Given the description of an element on the screen output the (x, y) to click on. 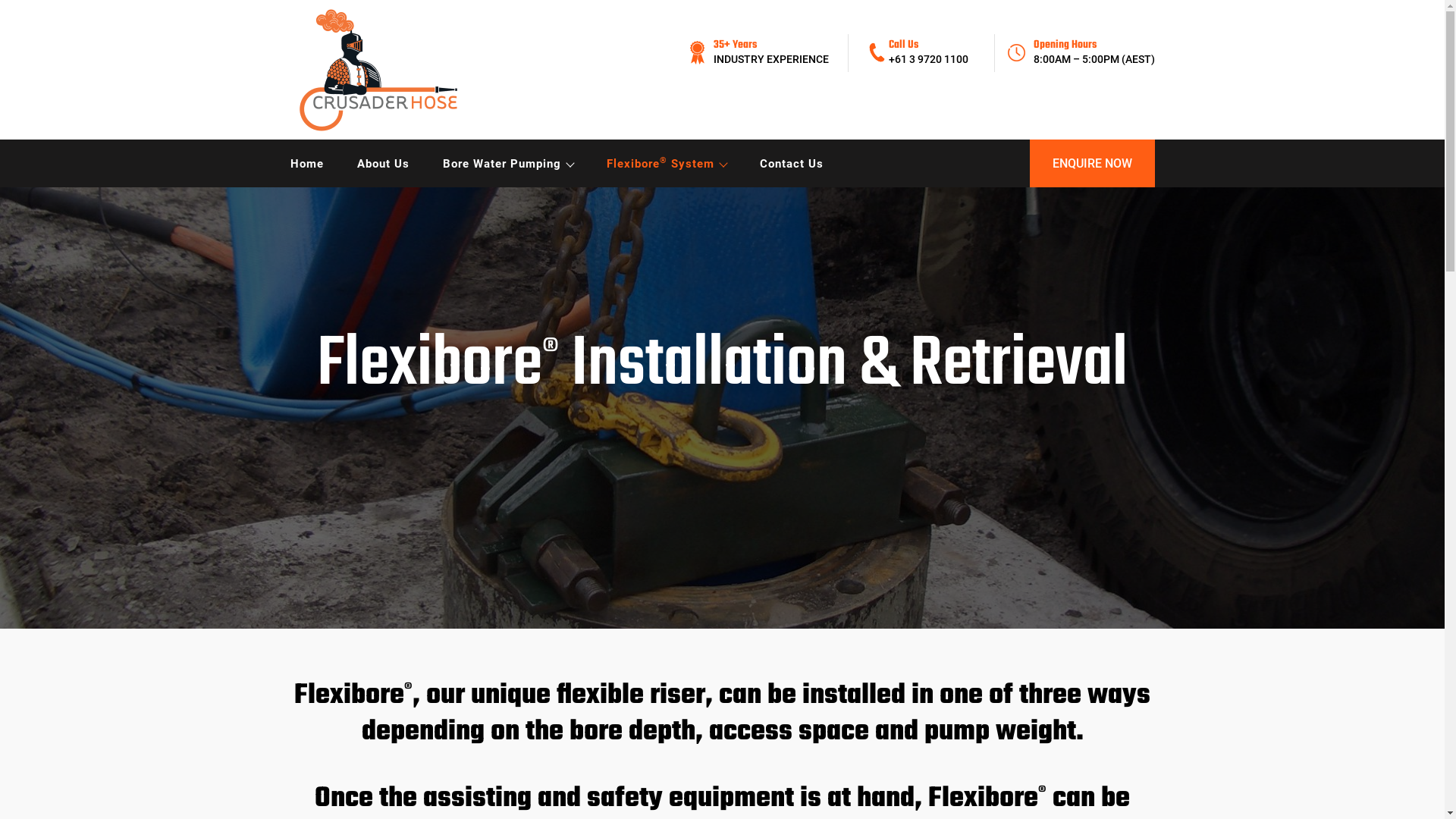
Home Element type: text (306, 163)
Bore Water Pumping Element type: text (507, 163)
Contact Us Element type: text (791, 163)
About Us Element type: text (382, 163)
ENQUIRE NOW Element type: text (1091, 163)
